Given the description of an element on the screen output the (x, y) to click on. 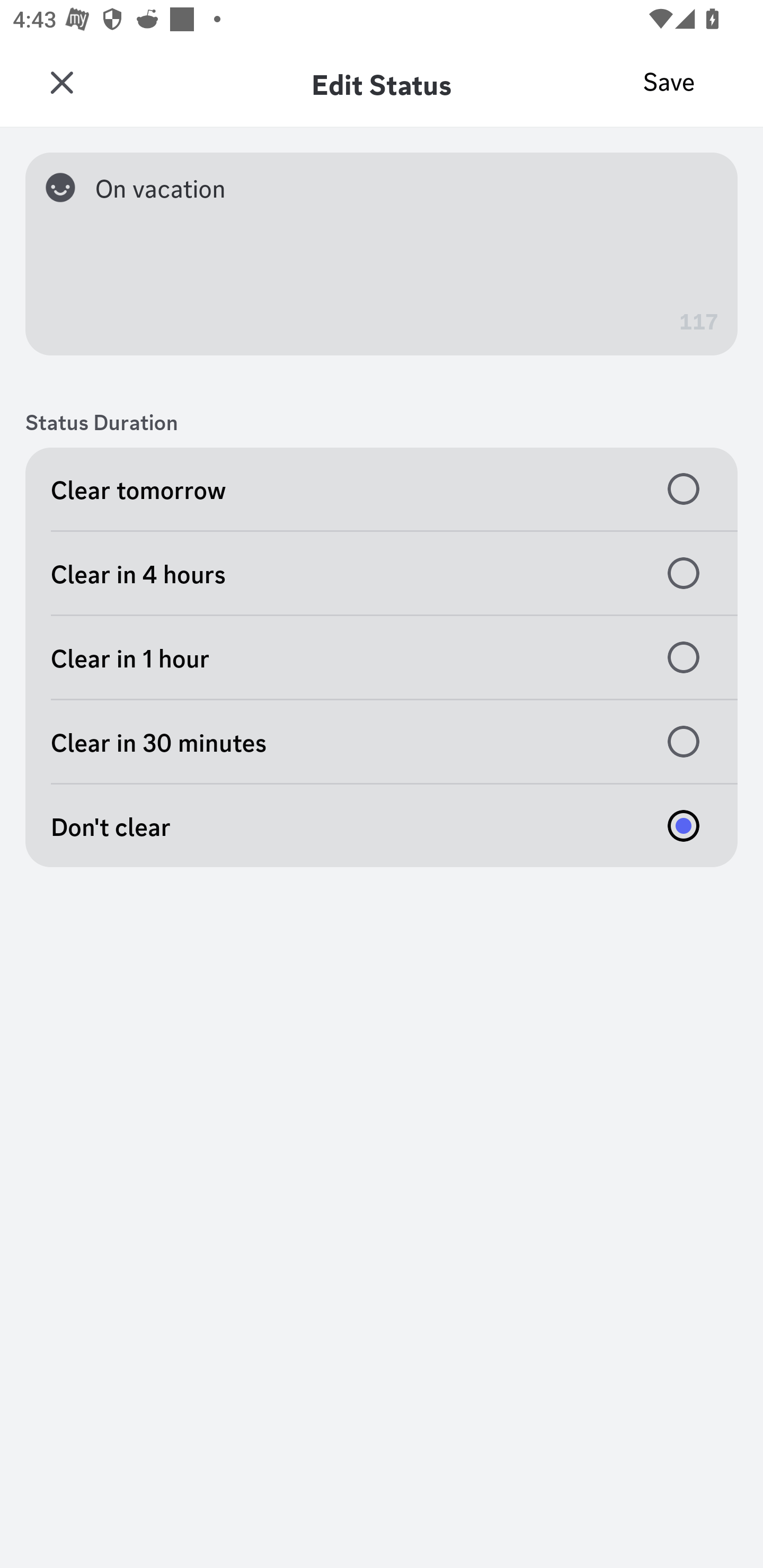
Close (61, 82)
Save (669, 82)
Select Custom Status Emoji (66, 186)
Clear tomorrow (381, 487)
Clear in 4 hours (381, 572)
Clear in 1 hour (381, 657)
Clear in 30 minutes (381, 741)
Don't clear (381, 825)
